Given the description of an element on the screen output the (x, y) to click on. 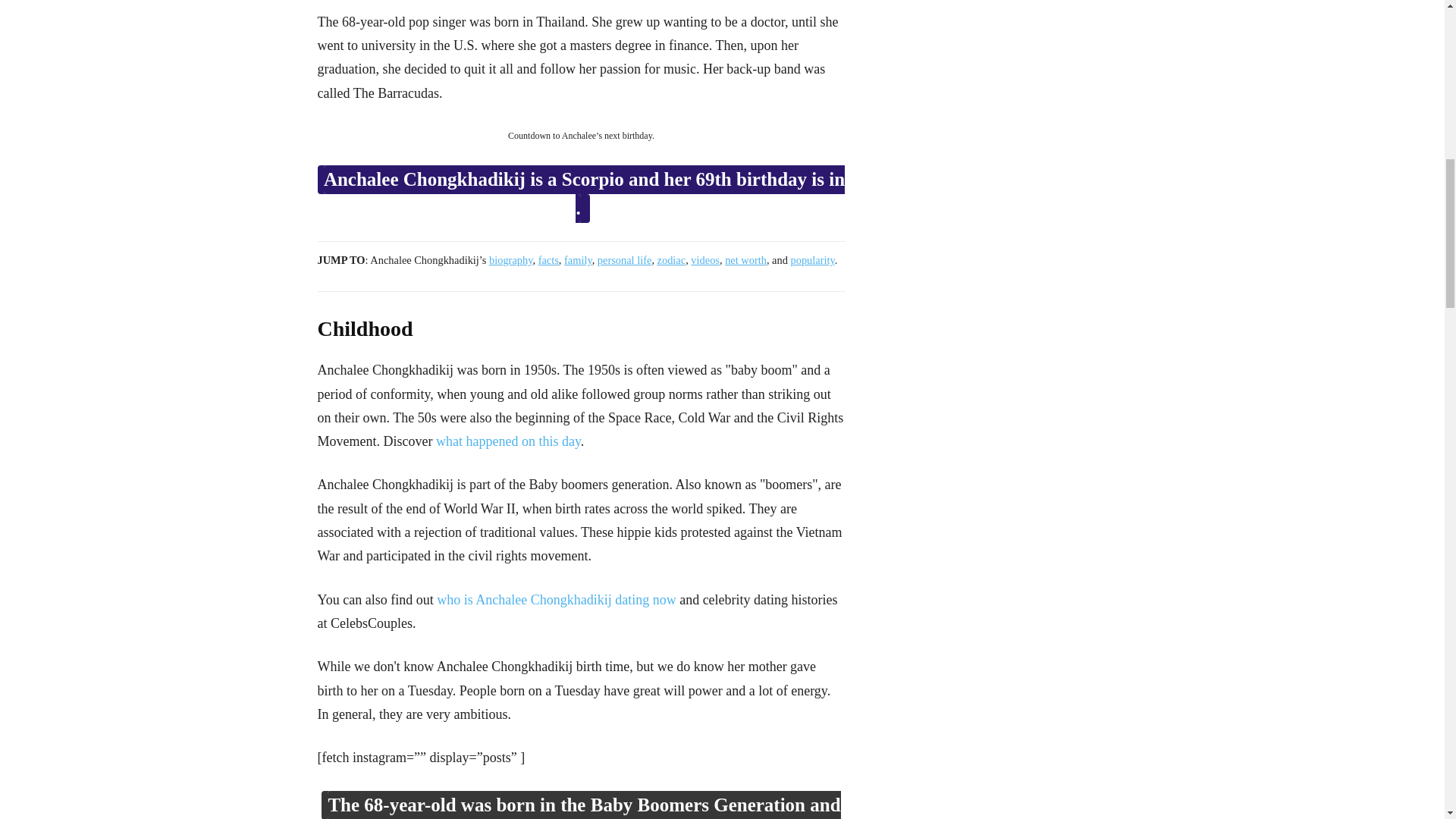
what happened on this day (507, 441)
biography (510, 259)
popularity (812, 259)
videos (704, 259)
facts (548, 259)
zodiac (671, 259)
net worth (746, 259)
who is Anchalee Chongkhadikij dating now (555, 599)
personal life (624, 259)
family (578, 259)
